Given the description of an element on the screen output the (x, y) to click on. 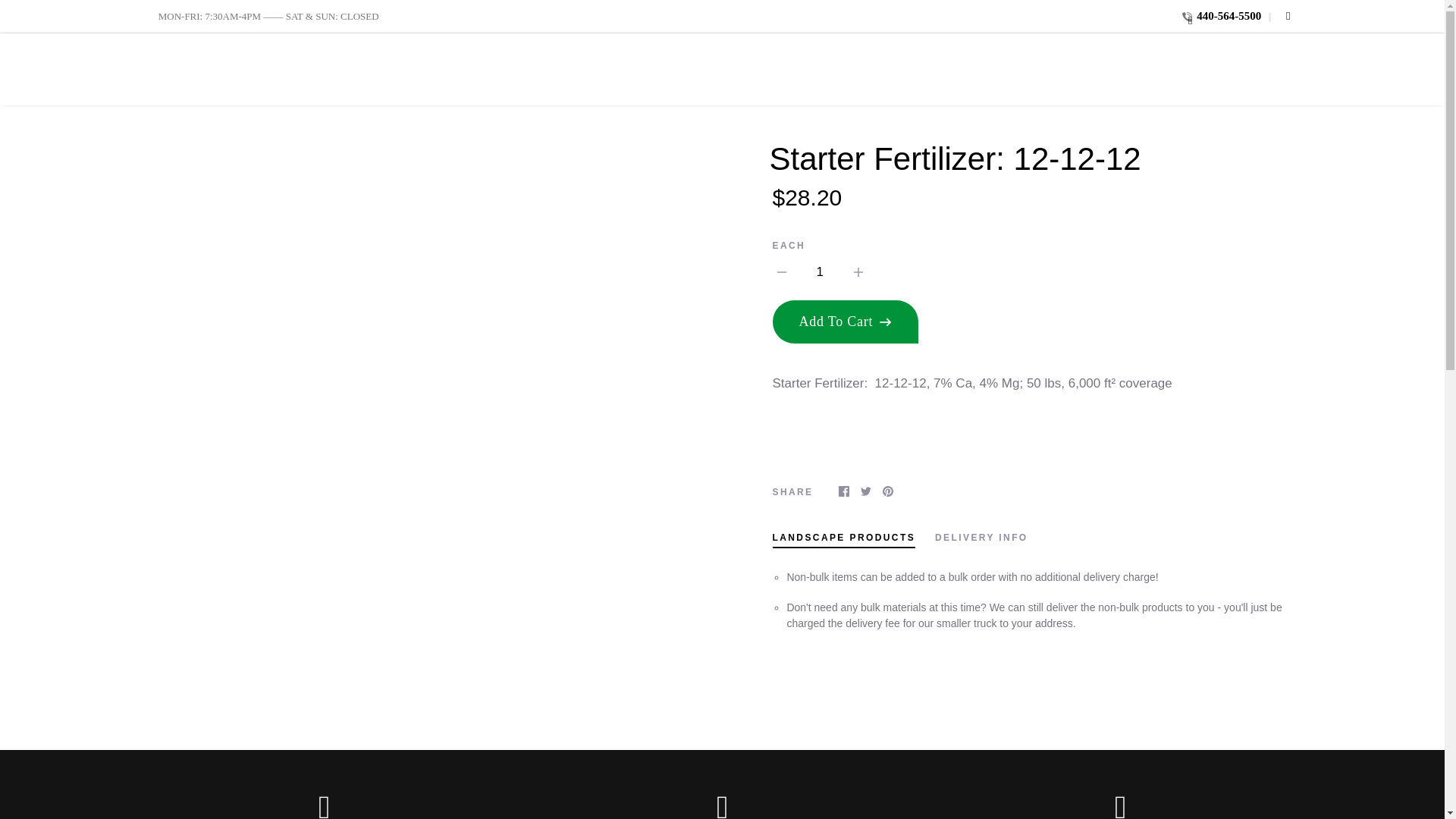
tel:440-564-5500 (1221, 15)
Decrease quantity by 1 (780, 271)
440-564-5500 (1221, 15)
Increase quantity by 1 (857, 271)
